Given the description of an element on the screen output the (x, y) to click on. 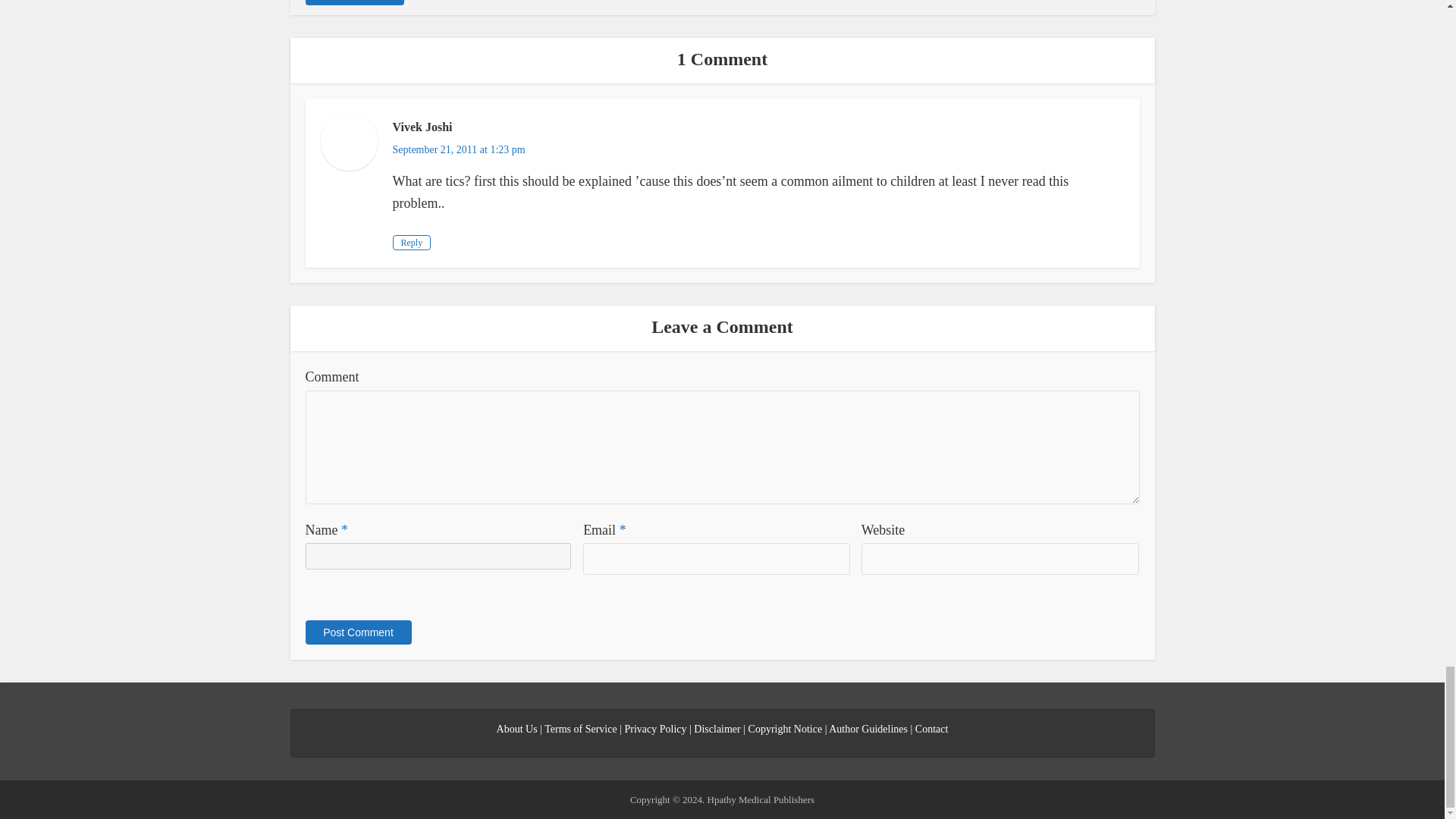
Post Comment (357, 631)
